Given the description of an element on the screen output the (x, y) to click on. 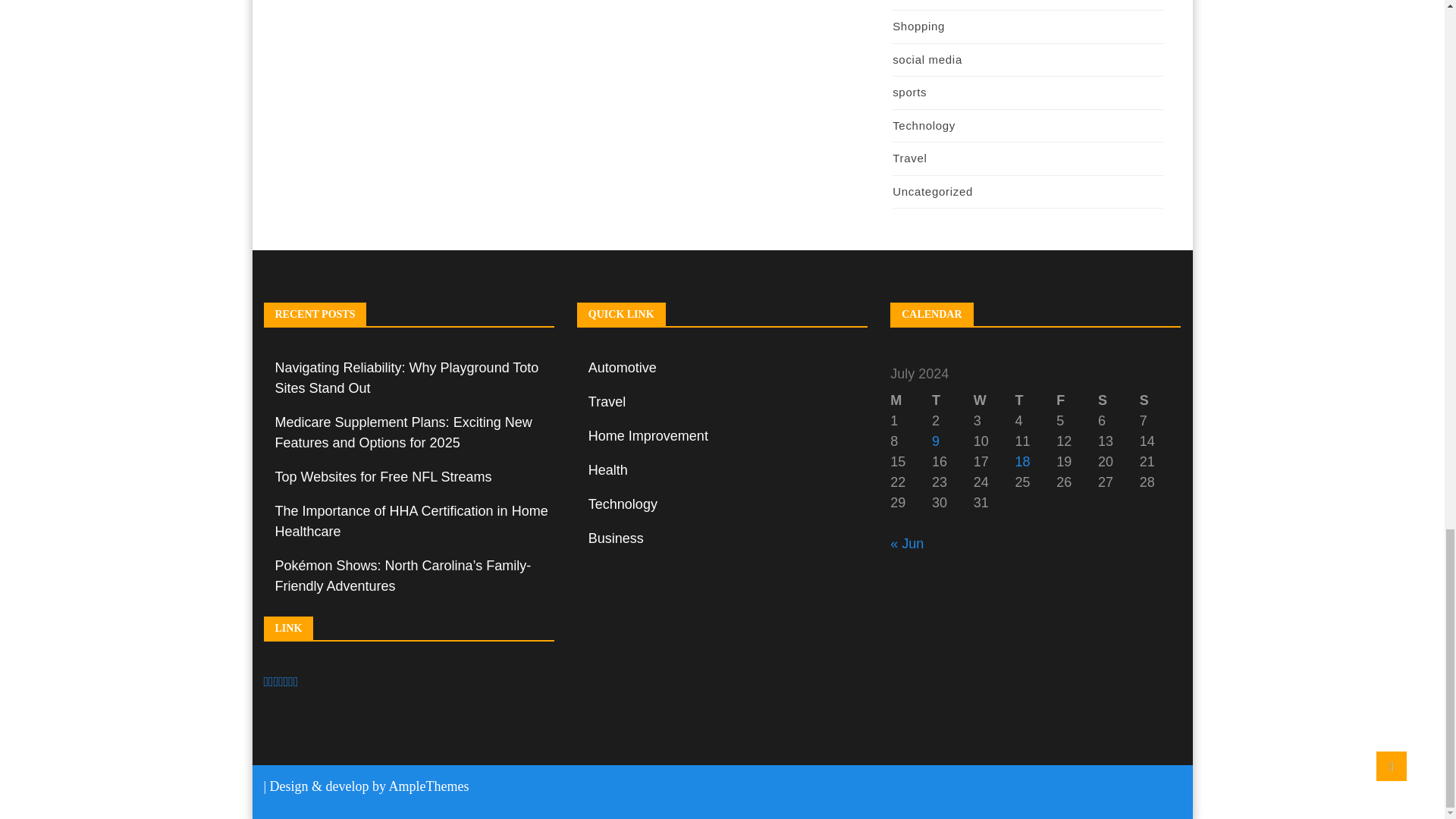
Wednesday (994, 400)
Saturday (1118, 400)
Monday (910, 400)
Tuesday (952, 400)
Thursday (1035, 400)
Friday (1077, 400)
Sunday (1160, 400)
